Given the description of an element on the screen output the (x, y) to click on. 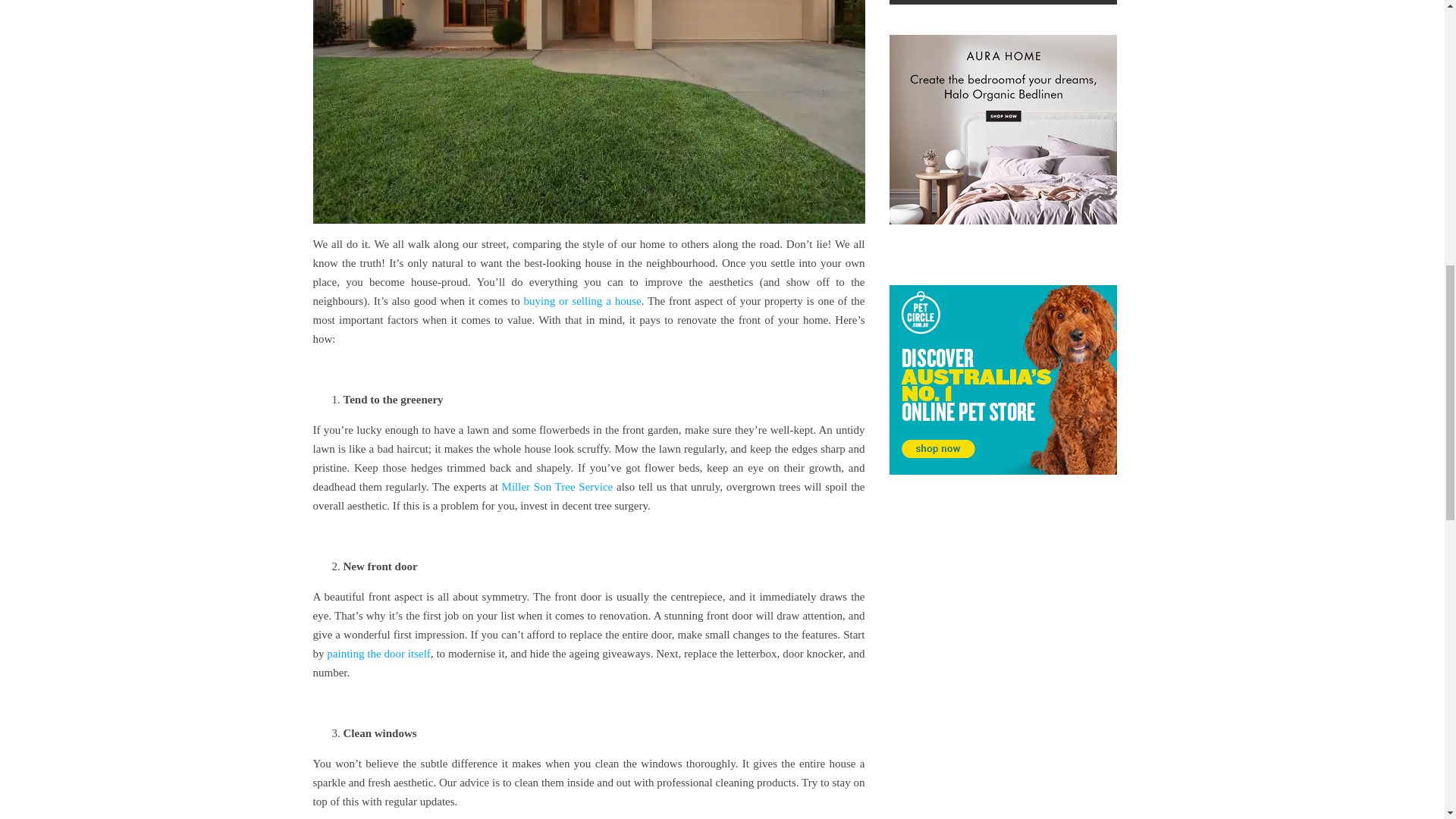
buying or selling a house (583, 300)
Miller Son Tree Service (557, 486)
painting the door itself (378, 653)
